Given the description of an element on the screen output the (x, y) to click on. 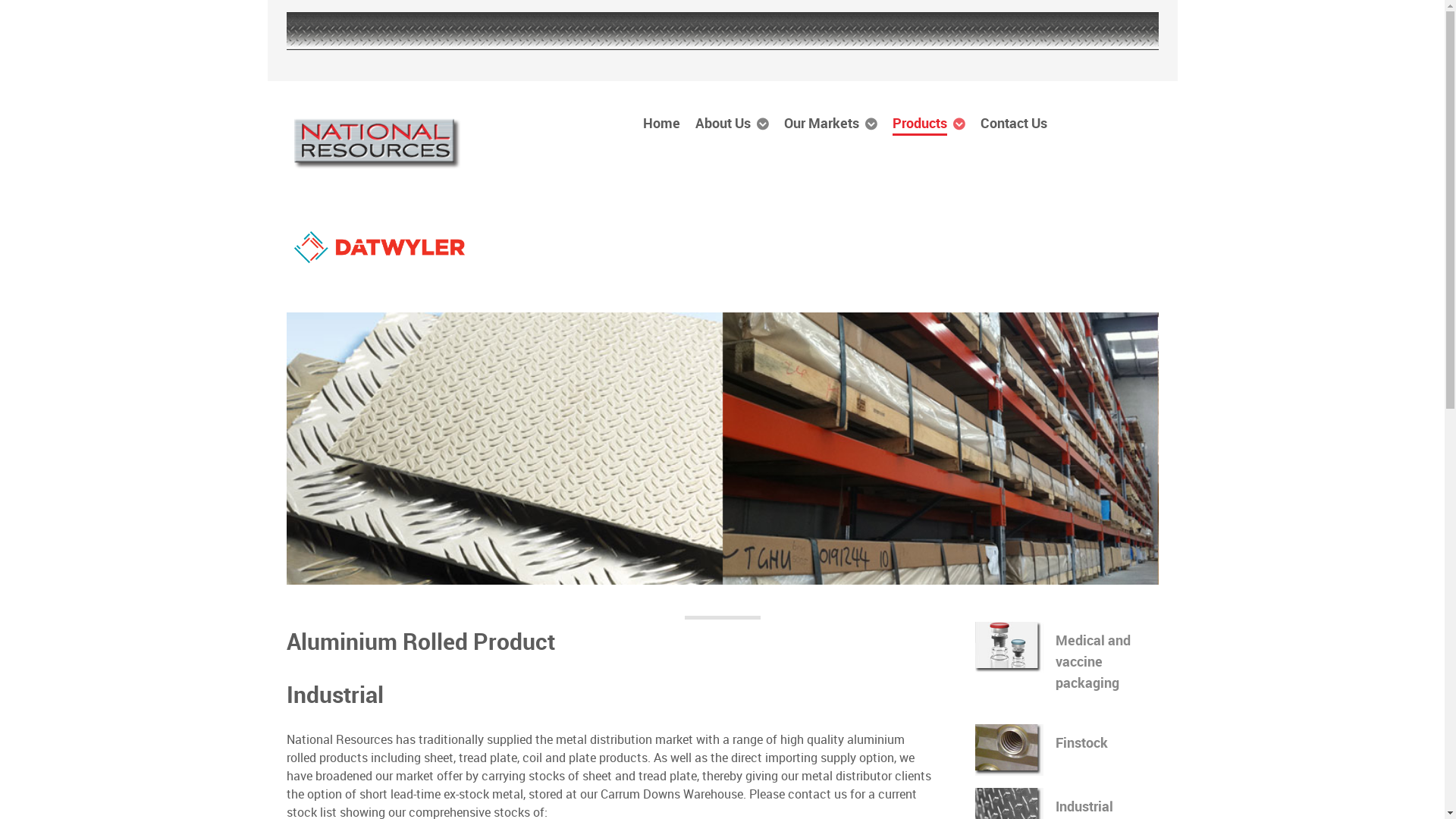
Our Markets Element type: text (830, 122)
Home Element type: text (661, 123)
Contact Us Element type: text (1013, 123)
Products Element type: text (928, 122)
About Us Element type: text (731, 122)
